Given the description of an element on the screen output the (x, y) to click on. 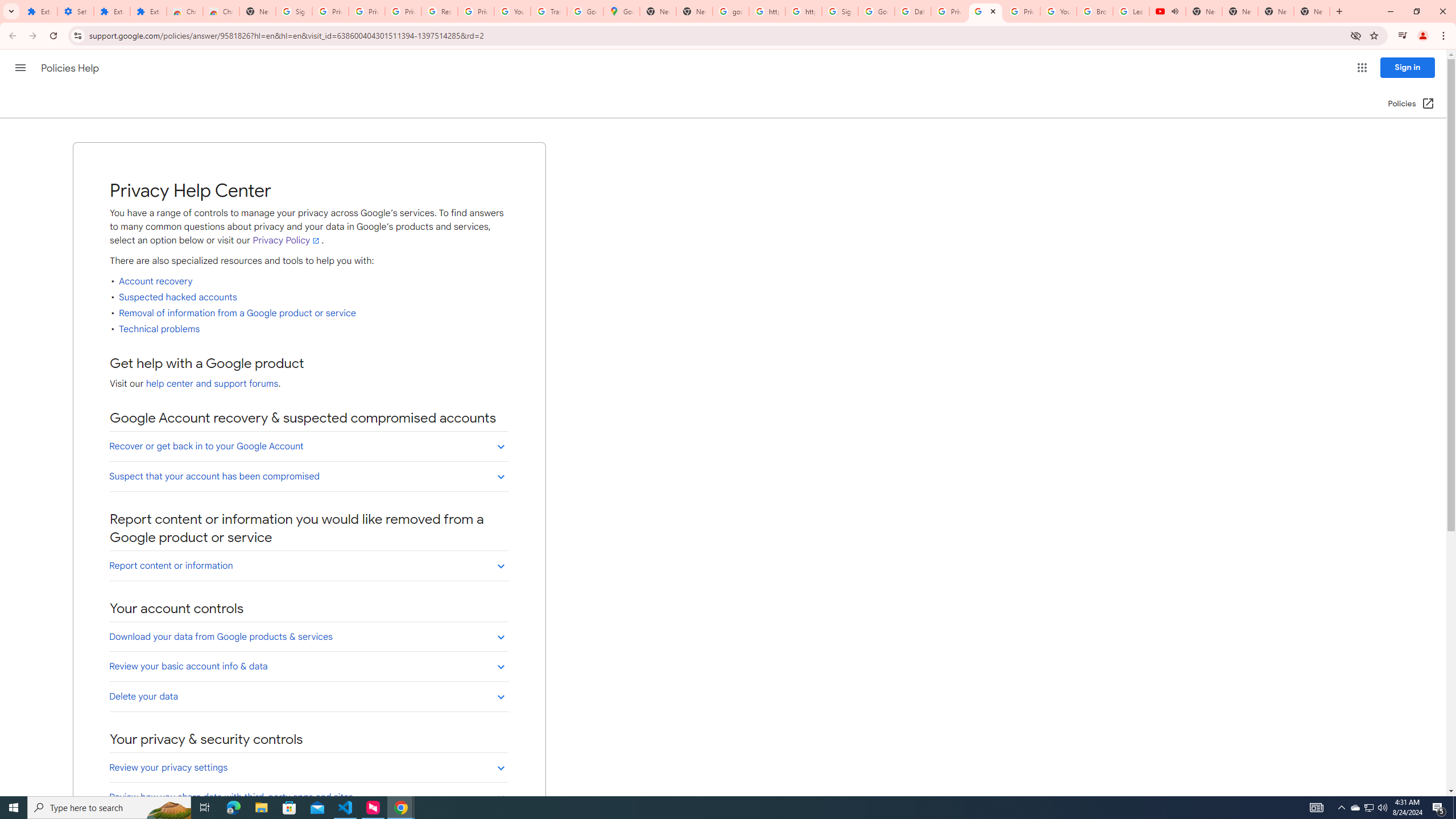
YouTube (512, 11)
Google Maps (621, 11)
Suspected hacked accounts (178, 297)
Sign in - Google Accounts (293, 11)
Privacy Help Center - Policies Help (949, 11)
Extensions (39, 11)
Account recovery (155, 281)
help center and support forums (211, 383)
Extensions (148, 11)
